Given the description of an element on the screen output the (x, y) to click on. 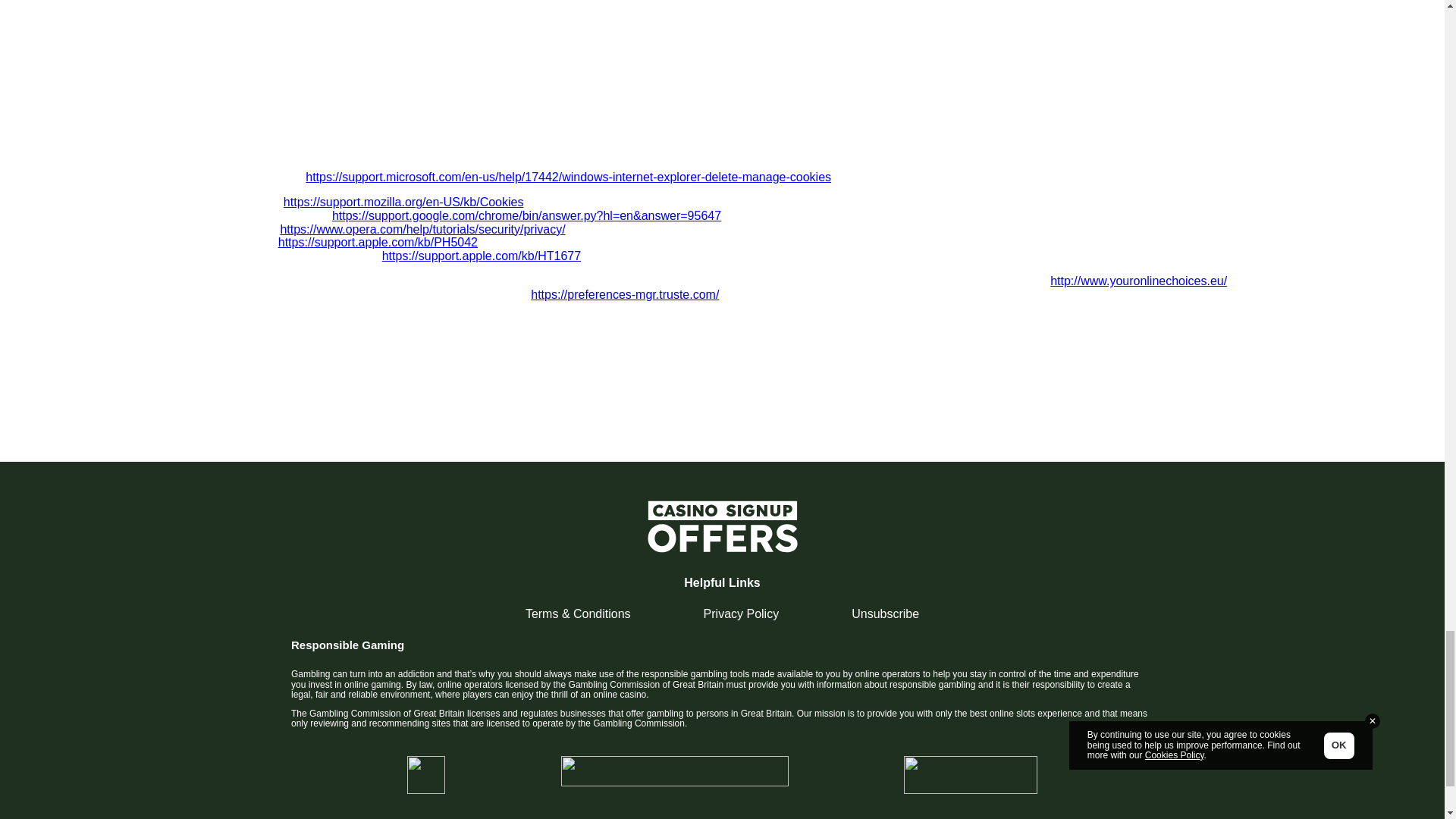
Privacy Policy (740, 613)
Unsubscribe (884, 613)
